Given the description of an element on the screen output the (x, y) to click on. 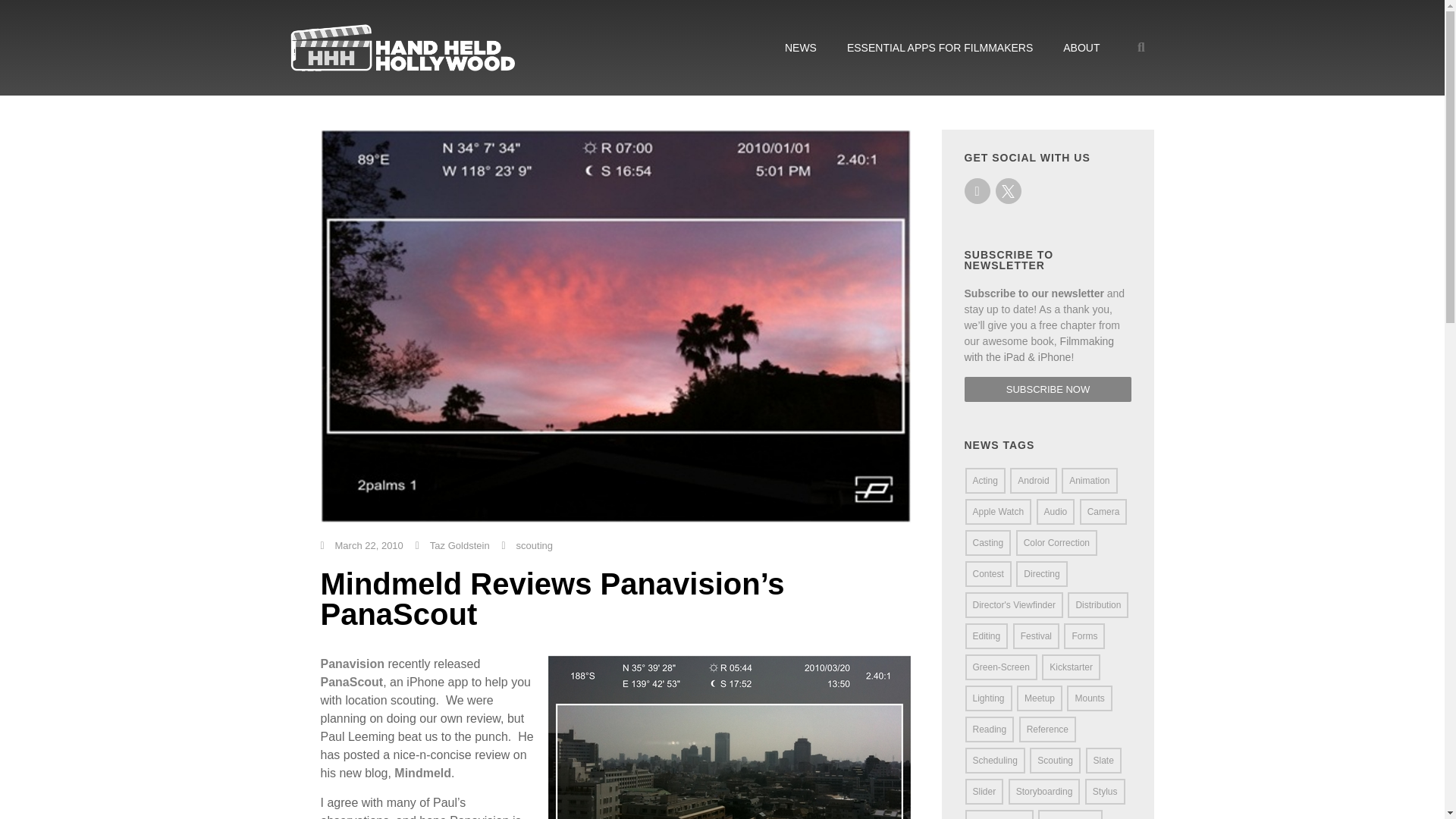
NEWS (800, 47)
Panavision (352, 663)
Acting (983, 480)
ABOUT (1081, 47)
Android (1033, 480)
ESSENTIAL APPS FOR FILMMAKERS (939, 47)
Panavision Website (352, 663)
Mindmeld (422, 772)
March 22, 2010 (361, 545)
scouting (534, 545)
